Given the description of an element on the screen output the (x, y) to click on. 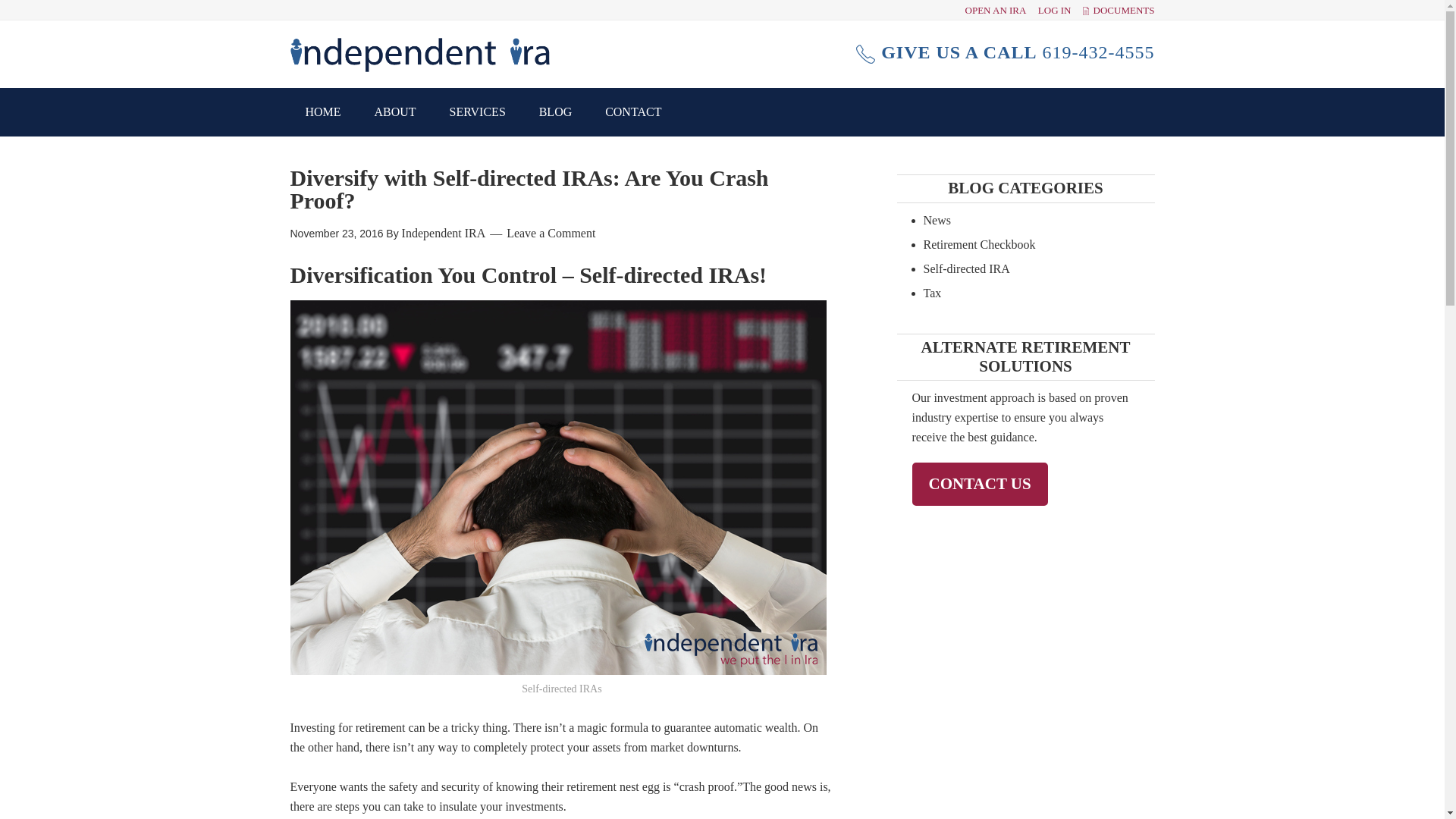
CONTACT (633, 111)
ABOUT (394, 111)
DOCUMENTS (1123, 9)
Self-directed IRA (966, 268)
HOME (322, 111)
Retirement Checkbook (979, 244)
BLOG (556, 111)
OPEN AN IRA (995, 9)
Tax (932, 292)
